Given the description of an element on the screen output the (x, y) to click on. 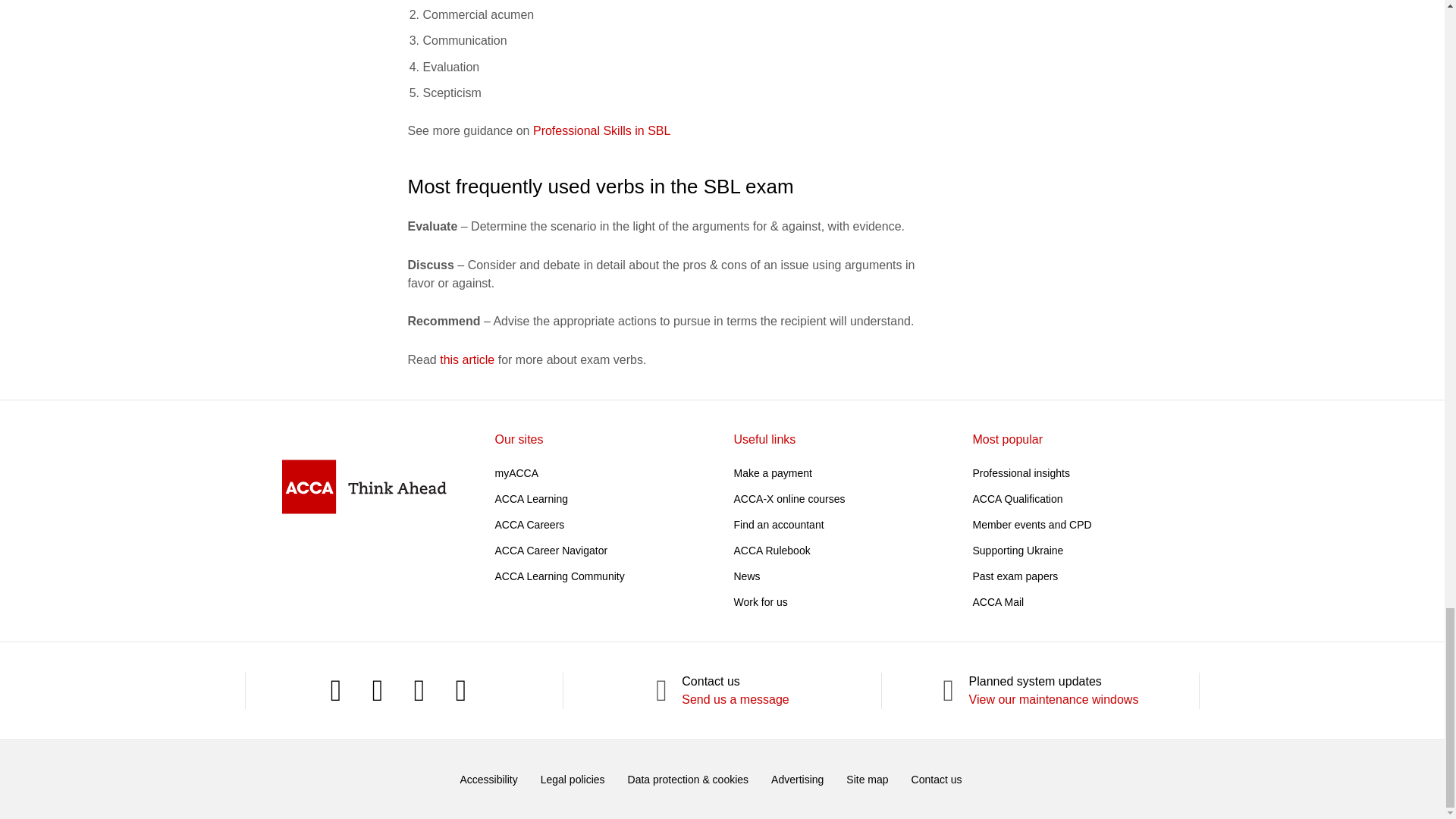
Supporting Ukraine (1017, 550)
ACCA Career Navigator (551, 550)
Make a payment (772, 472)
ACCA-X online courses (789, 499)
ACCA Learning Community (559, 576)
ACCA Qualification (1017, 499)
ACCA Learning (531, 499)
Find an accountant (778, 524)
Work for us (760, 602)
ACCA Careers (529, 524)
